Given the description of an element on the screen output the (x, y) to click on. 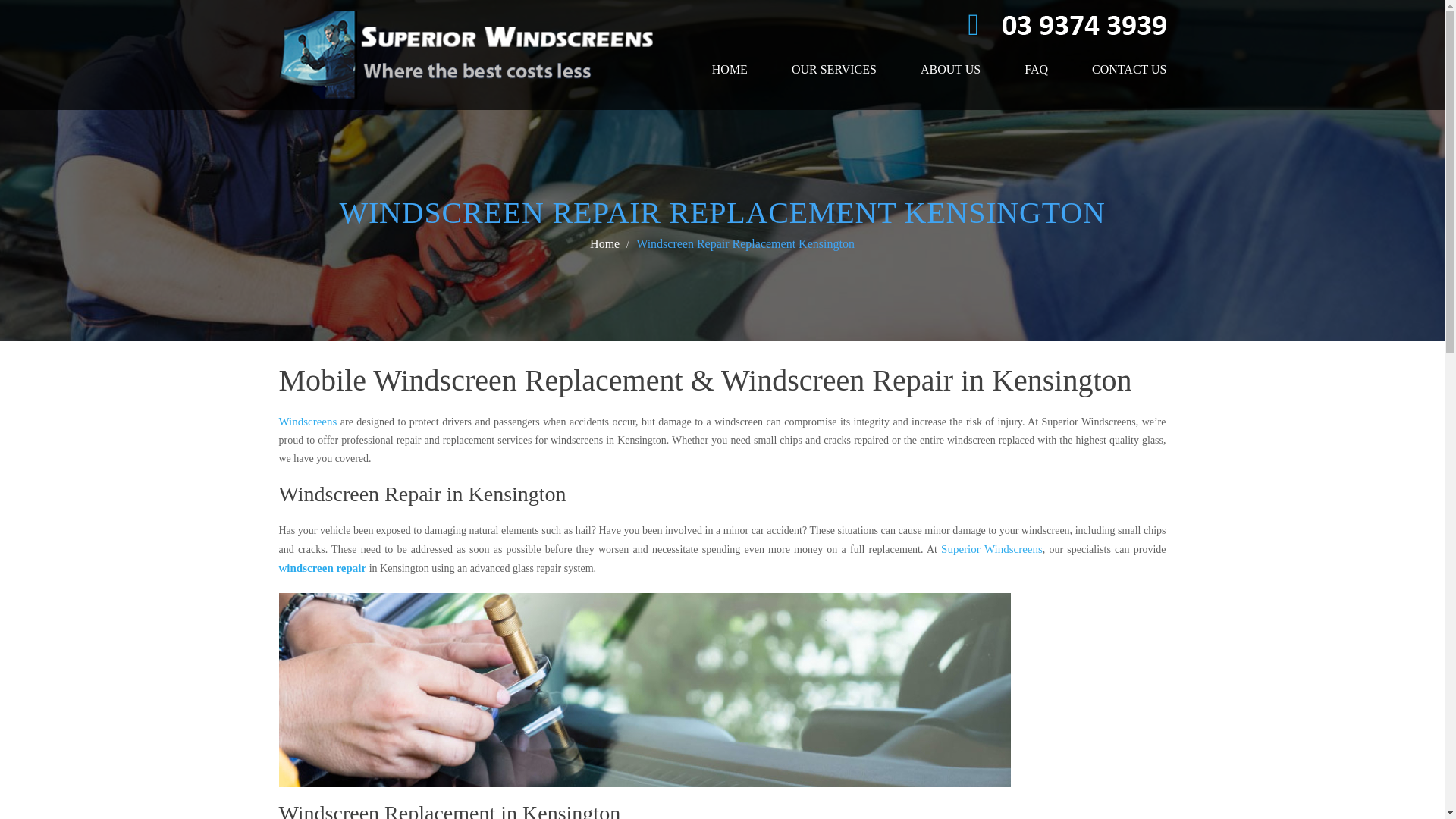
Windscreen Repairs (322, 567)
ABOUT US (950, 69)
windscreen repair (322, 567)
Home (604, 243)
03 9374 3939 (1084, 22)
HOME (729, 69)
OUR SERVICES (833, 69)
Home (604, 243)
Superior Windscreens (991, 548)
CONTACT US (1128, 69)
FAQ (1035, 69)
Windscreens (308, 421)
